Given the description of an element on the screen output the (x, y) to click on. 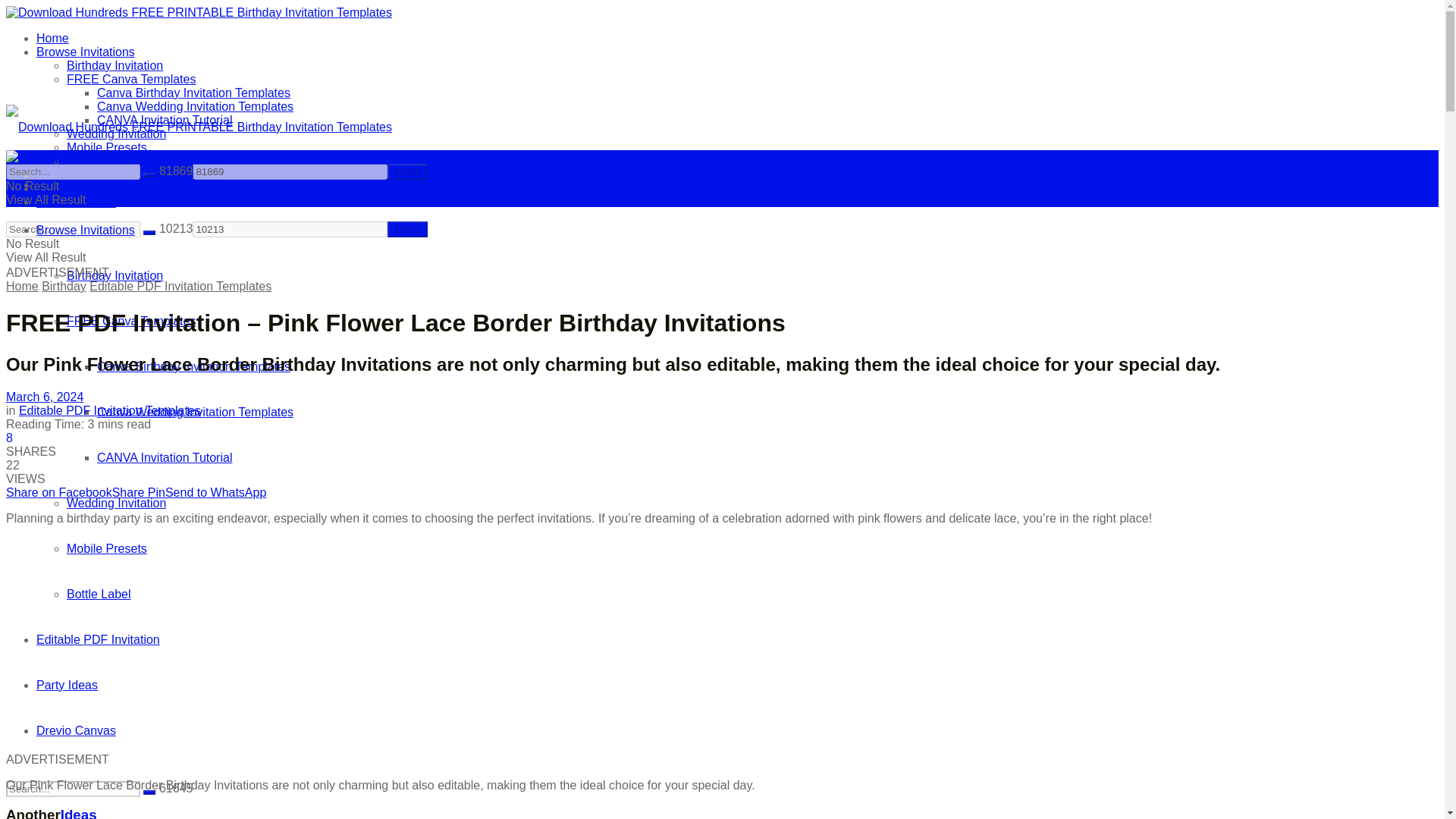
Home (52, 184)
81869 (289, 171)
Wedding Invitation (115, 502)
Party Ideas (66, 684)
Browse Invitations (85, 51)
81869 (289, 171)
Canva Birthday Invitation Templates (193, 366)
Wedding Invitation (115, 133)
Birthday Invitation (114, 275)
Canva Birthday Invitation Templates (193, 92)
